Given the description of an element on the screen output the (x, y) to click on. 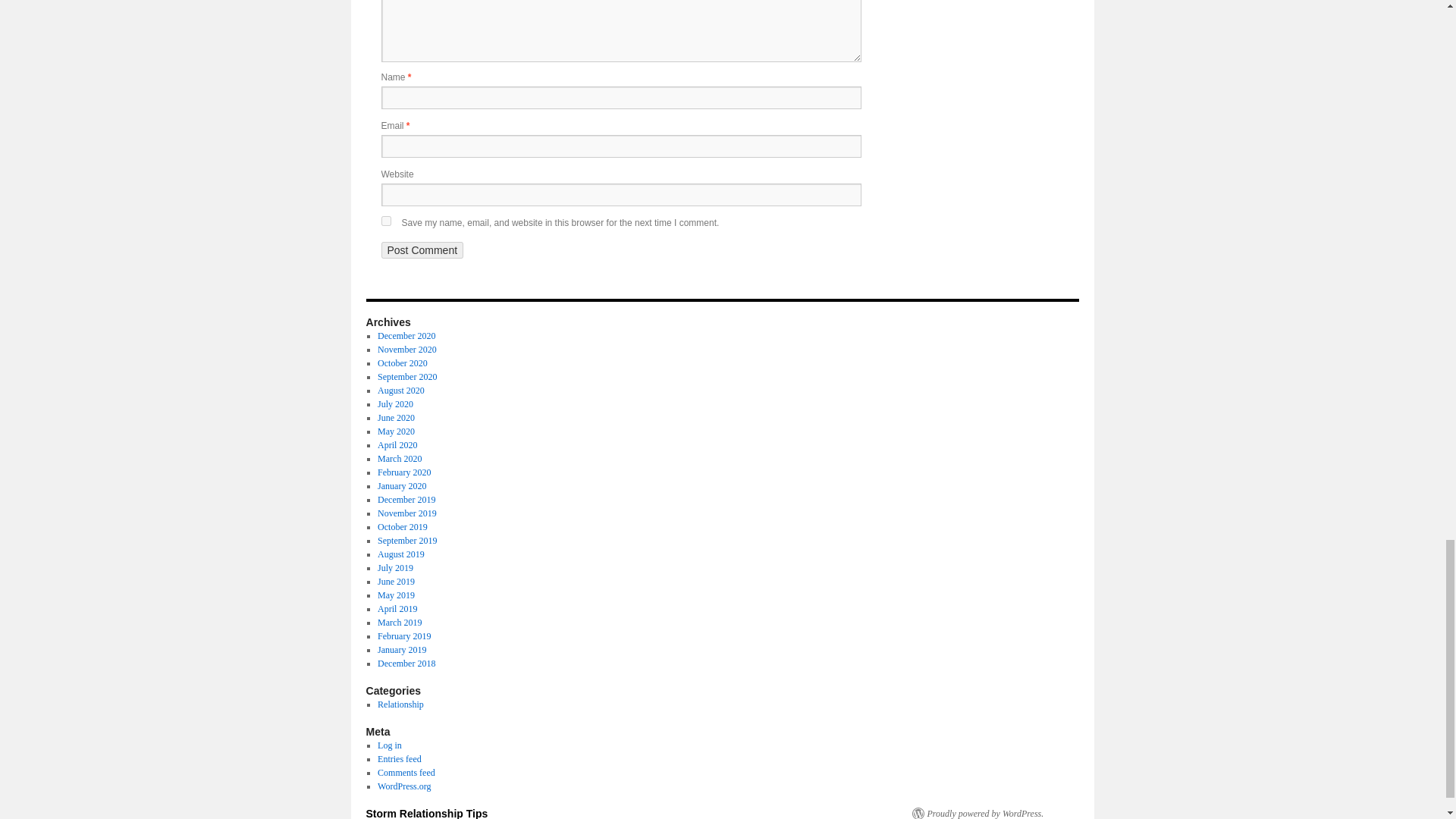
Post Comment (421, 249)
Post Comment (421, 249)
yes (385, 221)
